Given the description of an element on the screen output the (x, y) to click on. 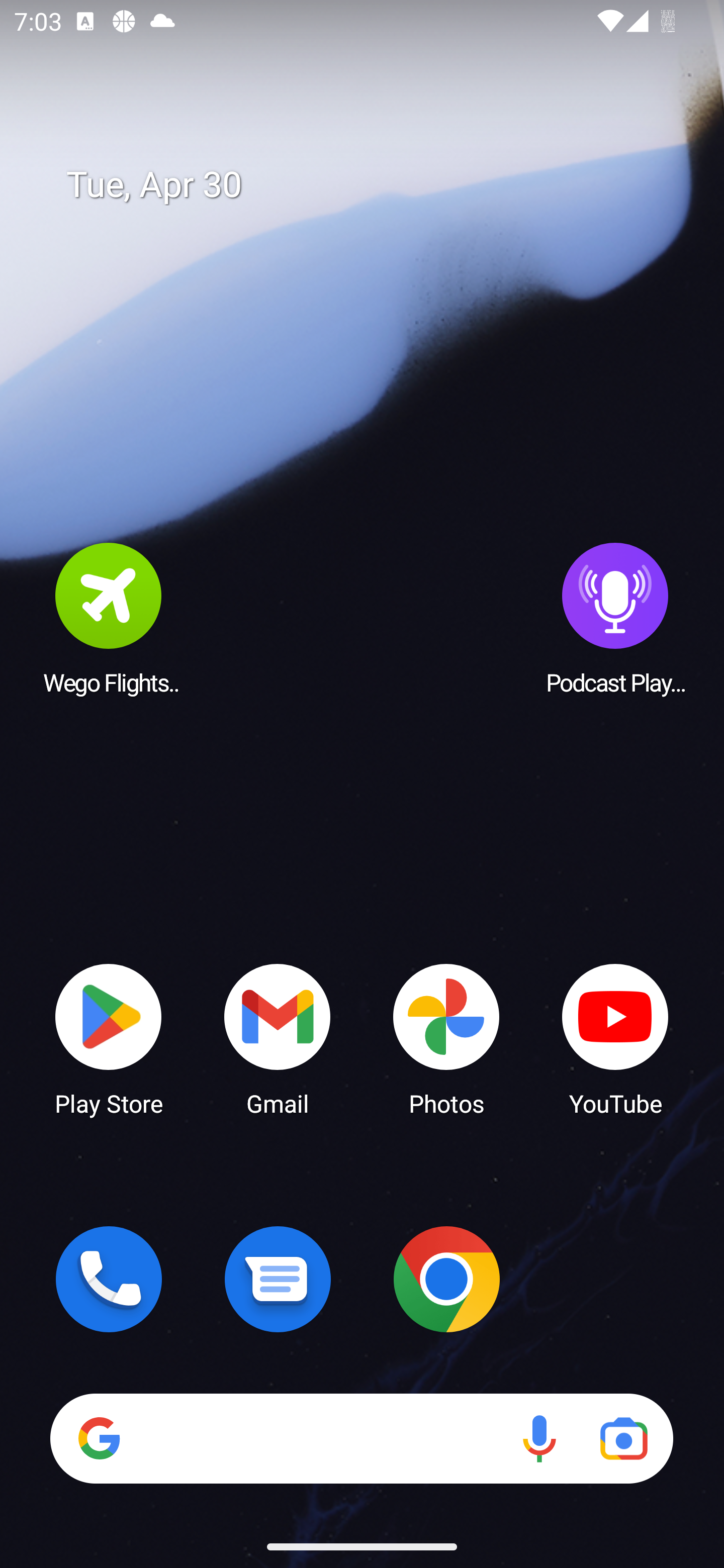
Tue, Apr 30 (375, 184)
Wego Flights & Hotels (108, 617)
Podcast Player (615, 617)
Play Store (108, 1038)
Gmail (277, 1038)
Photos (445, 1038)
YouTube (615, 1038)
Phone (108, 1279)
Messages (277, 1279)
Chrome (446, 1279)
Voice search (539, 1438)
Google Lens (623, 1438)
